Given the description of an element on the screen output the (x, y) to click on. 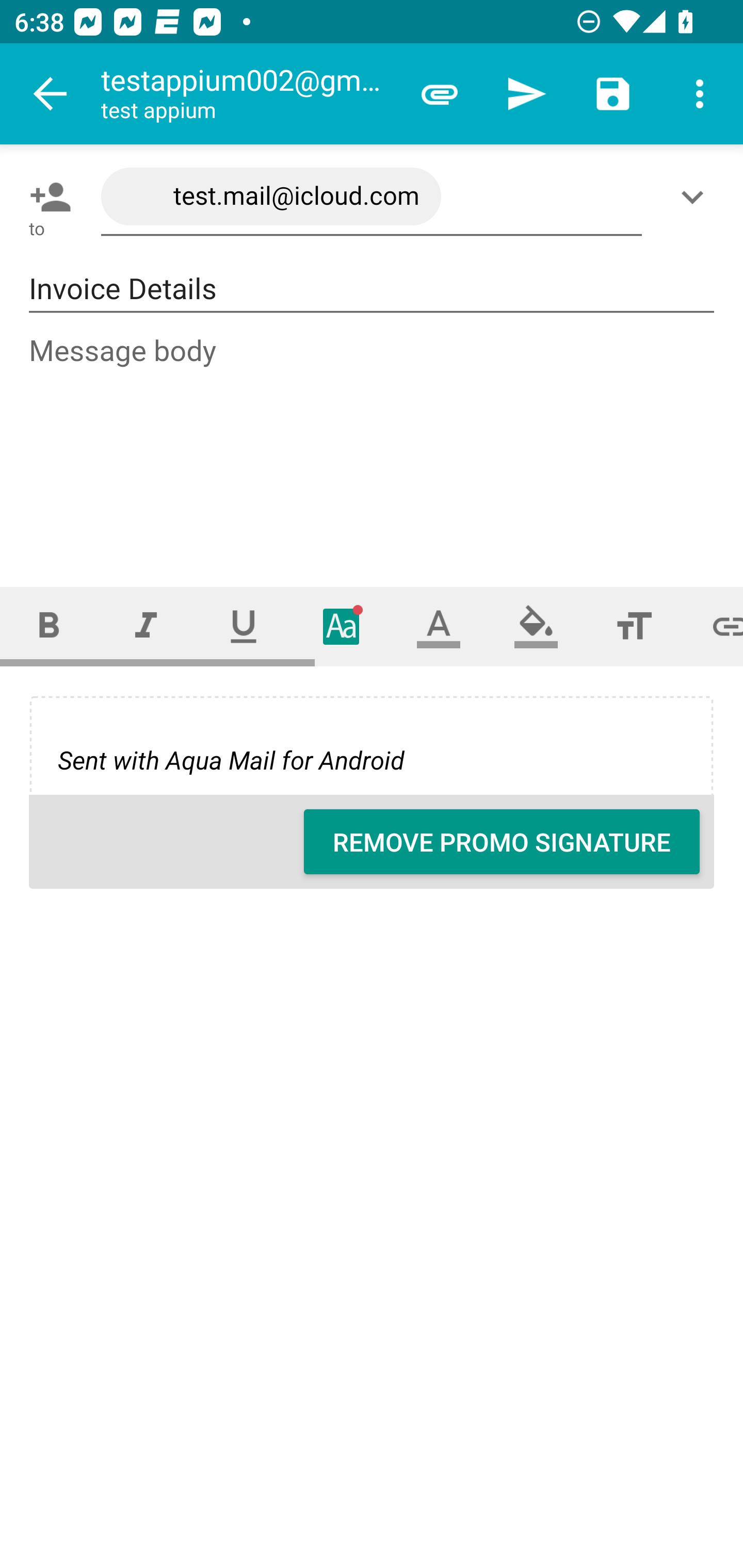
Navigate up (50, 93)
testappium002@gmail.com test appium (248, 93)
Attach (439, 93)
Send (525, 93)
Save (612, 93)
More options (699, 93)
test.mail@icloud.com,  (371, 197)
Pick contact: To (46, 196)
Show/Add CC/BCC (696, 196)
Invoice Details (371, 288)
Message body (372, 442)
Bold (48, 626)
Italic (145, 626)
Underline (243, 626)
Typeface (font) (341, 626)
Text color (438, 626)
Fill color (536, 626)
Font size (633, 626)
REMOVE PROMO SIGNATURE (501, 841)
